Given the description of an element on the screen output the (x, y) to click on. 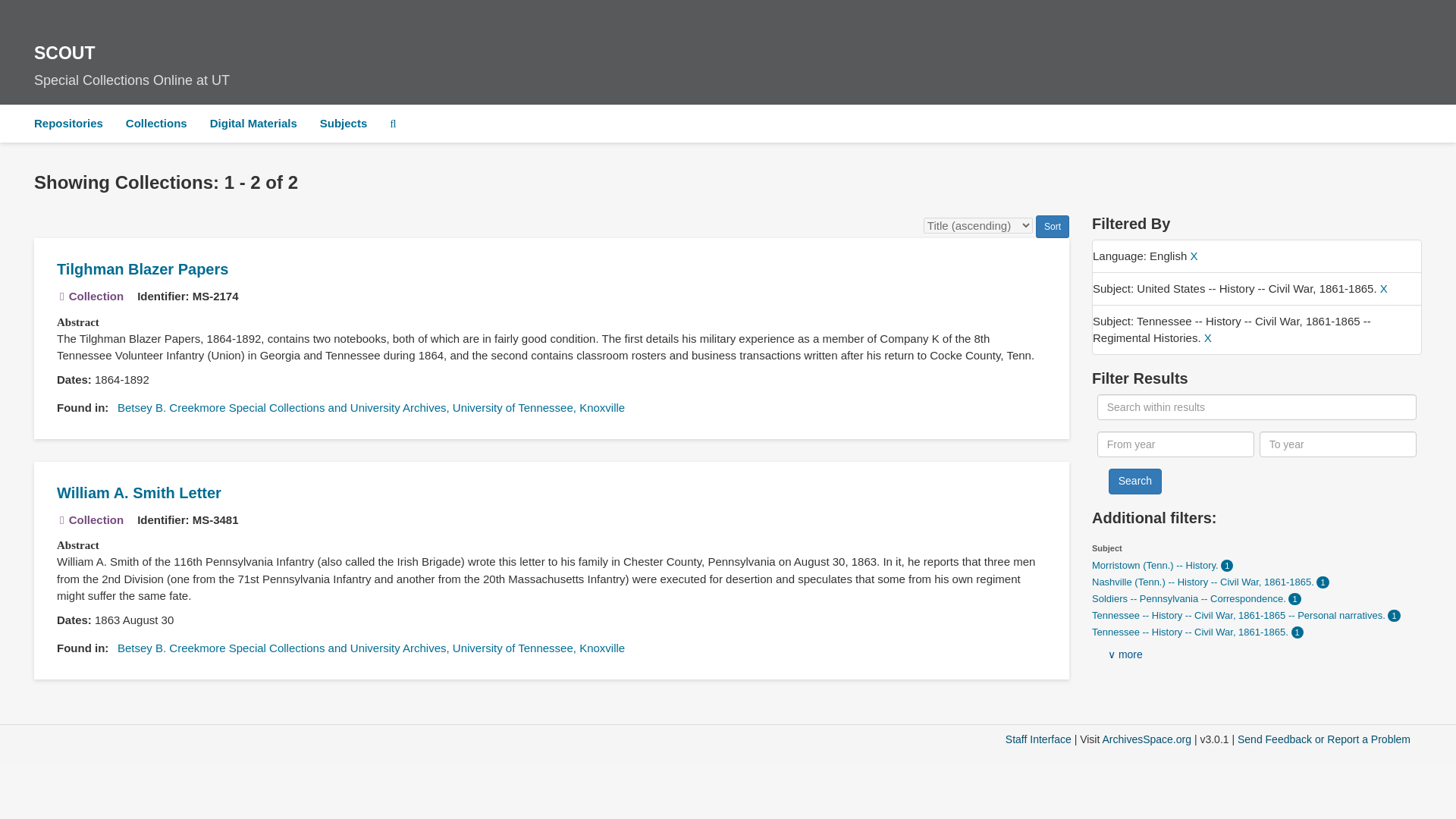
Soldiers -- Pennsylvania -- Correspondence. (1190, 598)
William A. Smith Letter (138, 492)
Tennessee -- History -- Civil War, 1861-1865. (1191, 632)
Filter By 'Tennessee -- History -- Civil War, 1861-1865.' (1191, 632)
Search (1134, 481)
Collections (156, 123)
translation missing: en.dates (71, 619)
translation missing: en.dates (727, 61)
Staff Interface (71, 379)
Tilghman Blazer Papers (1038, 739)
Digital Materials (142, 269)
Search (253, 123)
